Given the description of an element on the screen output the (x, y) to click on. 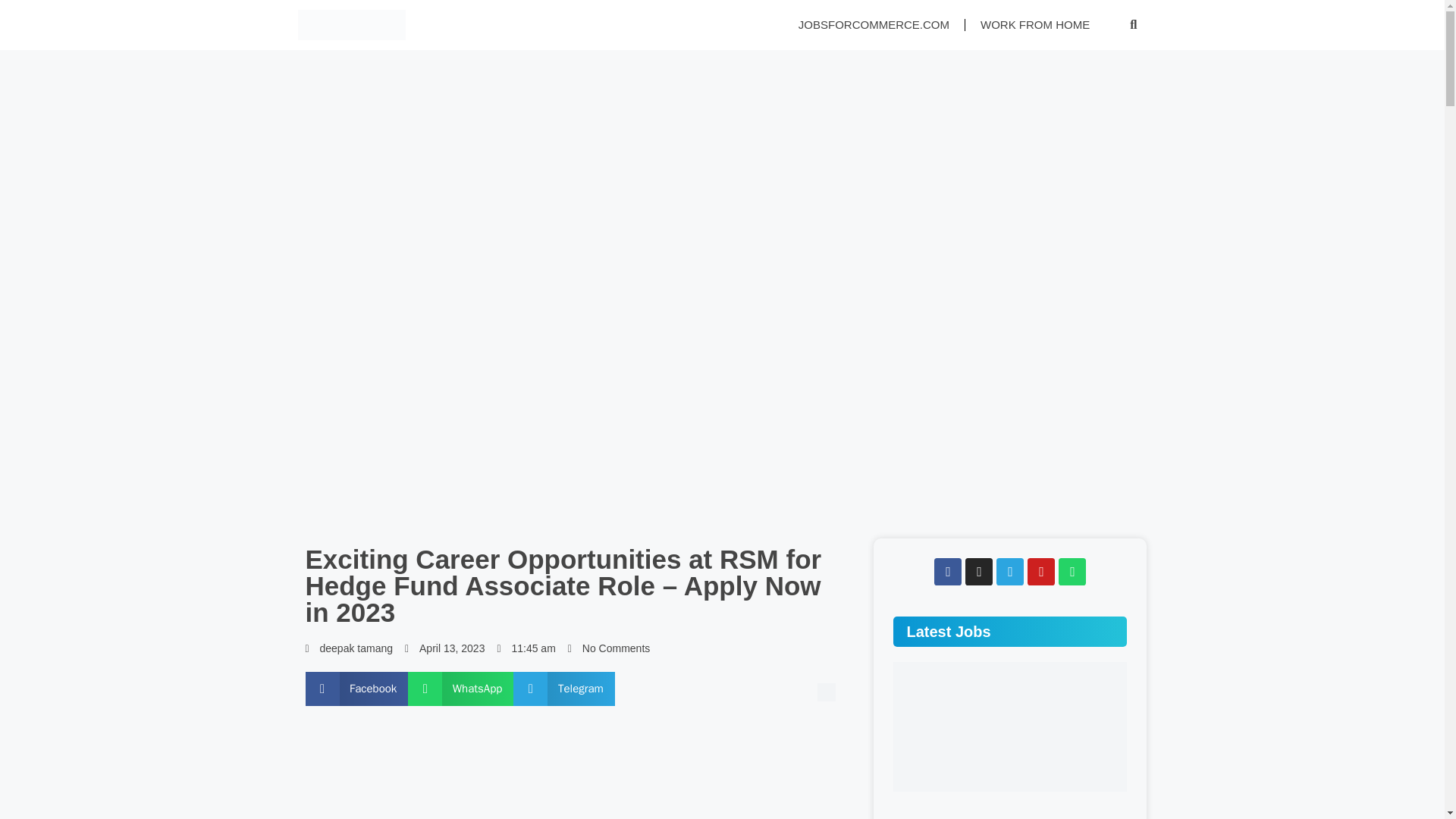
deepak tamang (348, 648)
JOBSFORCOMMERCE.COM (873, 24)
Advertisement (577, 773)
April 13, 2023 (444, 648)
No Comments (608, 648)
WORK FROM HOME (1035, 24)
Advertisement (721, 754)
